Given the description of an element on the screen output the (x, y) to click on. 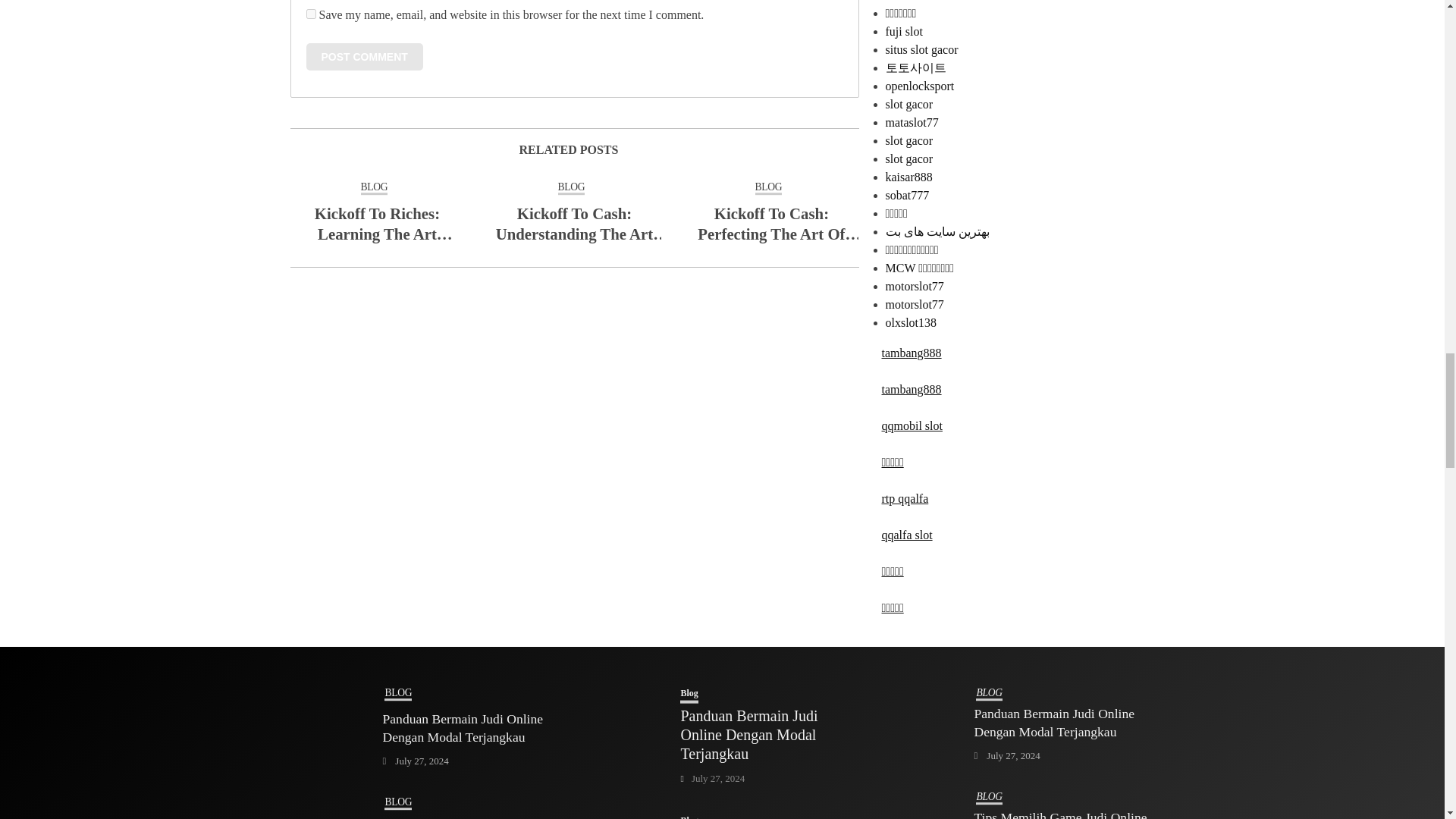
yes (310, 13)
Post Comment (364, 56)
